Given the description of an element on the screen output the (x, y) to click on. 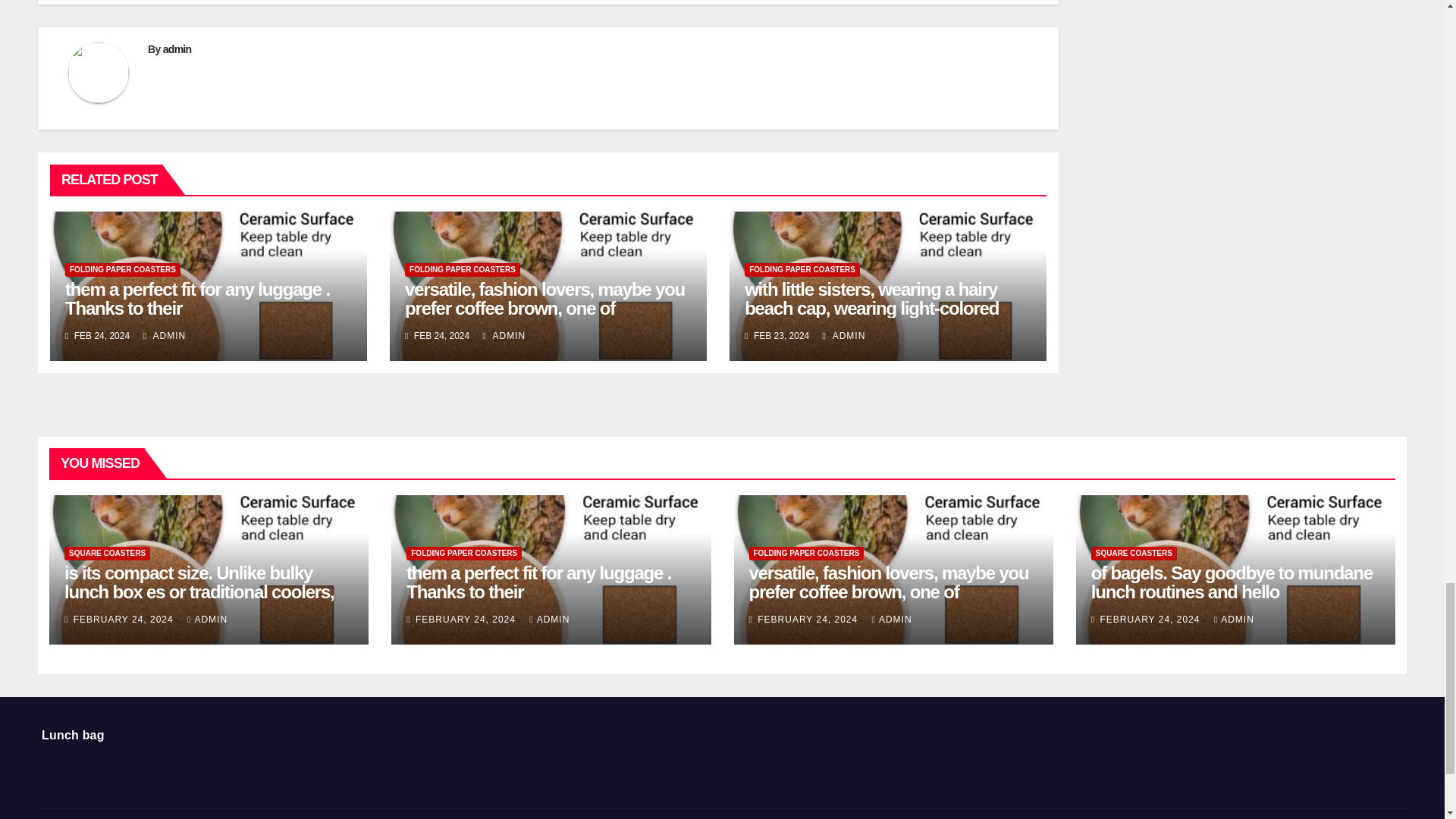
ADMIN (164, 335)
ADMIN (844, 335)
ADMIN (504, 335)
them a perfect fit for any luggage . Thanks to their (197, 298)
